Given the description of an element on the screen output the (x, y) to click on. 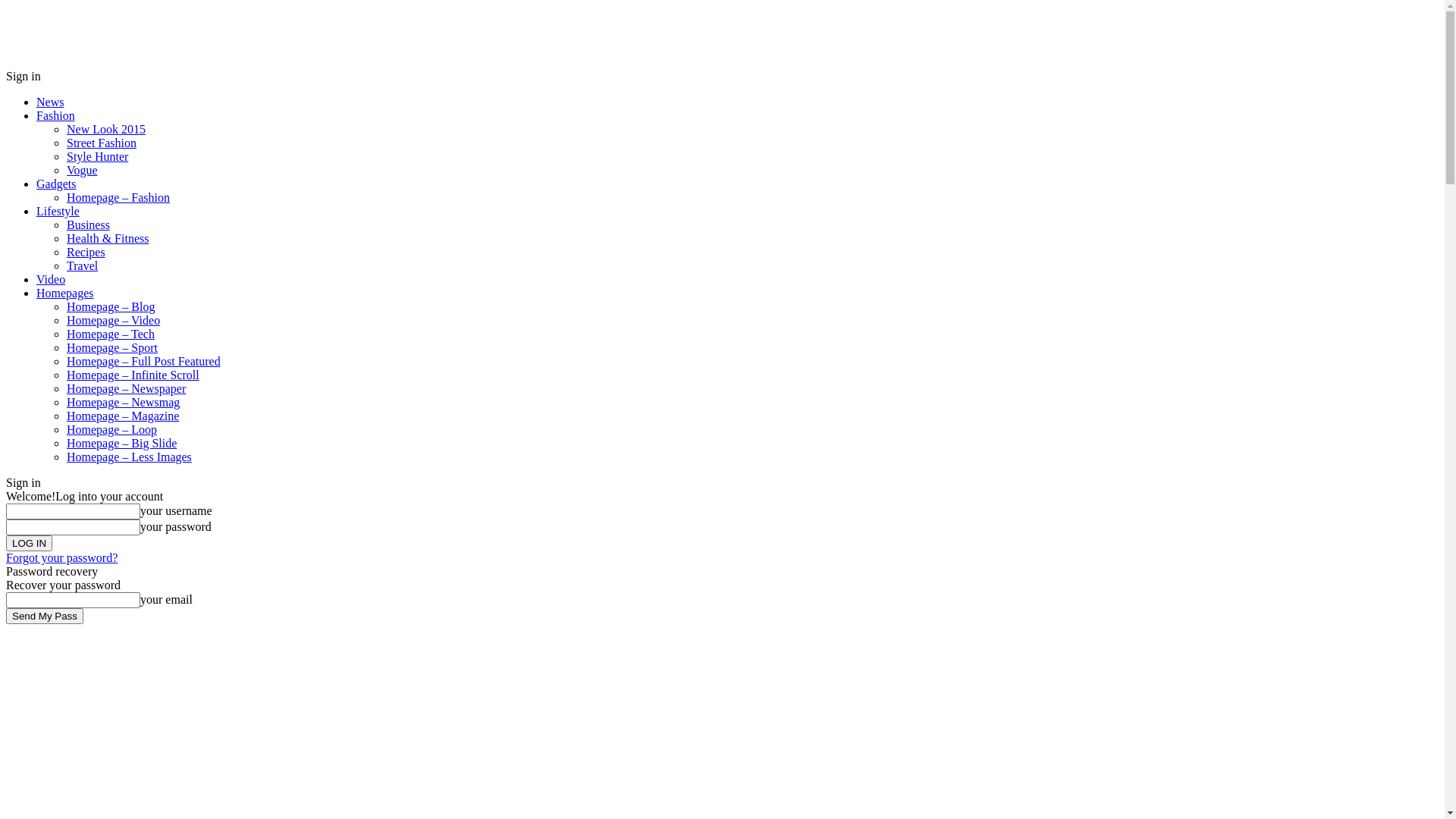
Recipes Element type: text (85, 251)
Business Element type: text (87, 224)
Vogue Element type: text (81, 169)
Homepages Element type: text (65, 292)
News Element type: text (49, 101)
Travel Element type: text (81, 265)
Forgot your password? Element type: text (61, 557)
Street Fashion Element type: text (101, 142)
Gadgets Element type: text (55, 183)
Lifestyle Element type: text (57, 210)
Style Hunter Element type: text (97, 156)
Fashion Element type: text (55, 115)
Video Element type: text (50, 279)
Health & Fitness Element type: text (107, 238)
New Look 2015 Element type: text (105, 128)
Sign in Element type: text (23, 75)
